Given the description of an element on the screen output the (x, y) to click on. 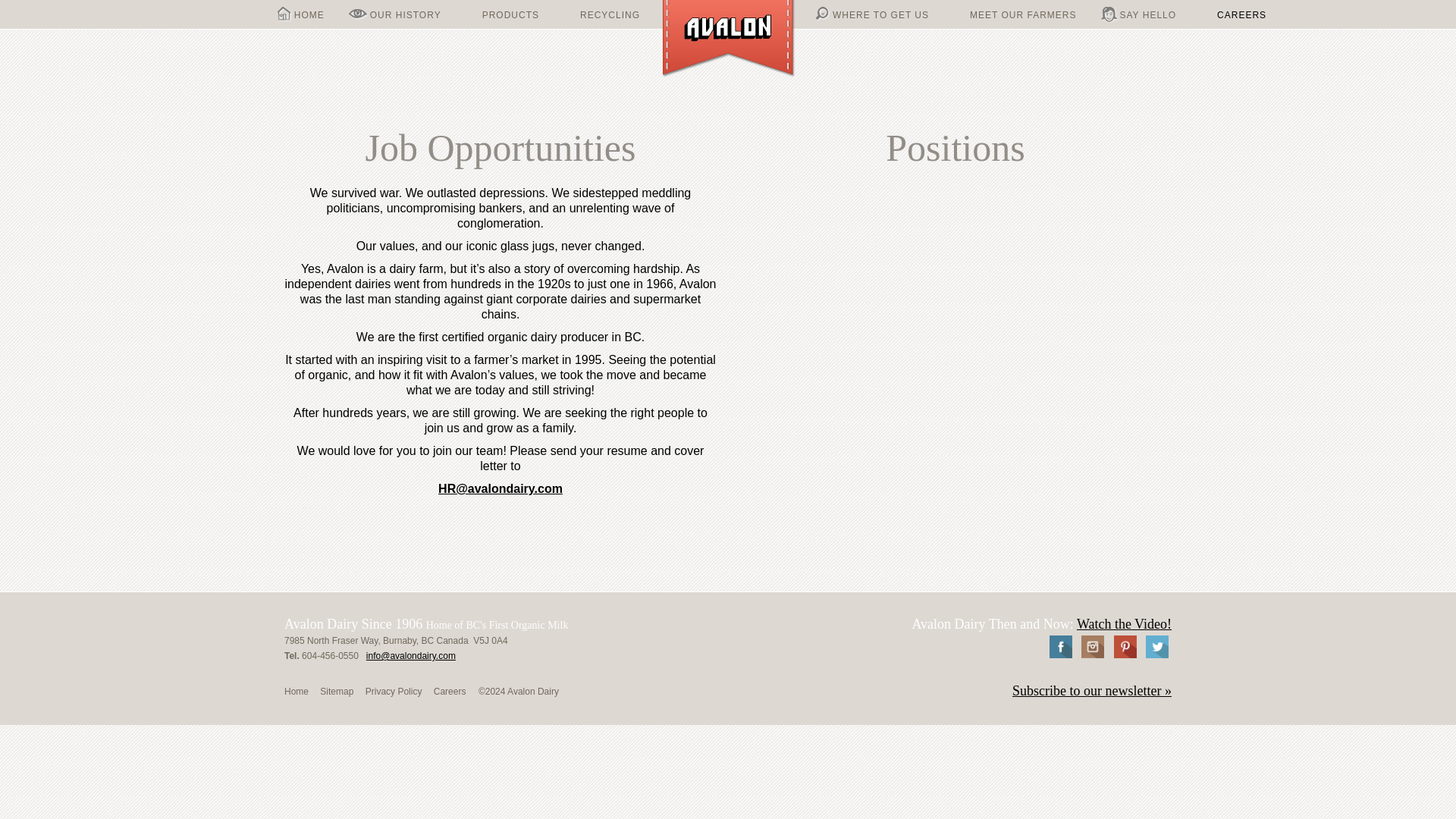
Watch the Video! (1124, 623)
Privacy Policy (393, 691)
Careers (449, 691)
Sitemap (336, 691)
RECYCLING (601, 11)
Avalon Dairy (727, 39)
CAREERS (1232, 11)
PRODUCTS (501, 11)
OUR HISTORY (395, 11)
WHERE TO GET US (871, 11)
MEET OUR FARMERS (1014, 11)
Avalon Dairy (727, 39)
SAY HELLO (1138, 11)
HOME (301, 11)
Home (295, 691)
